Given the description of an element on the screen output the (x, y) to click on. 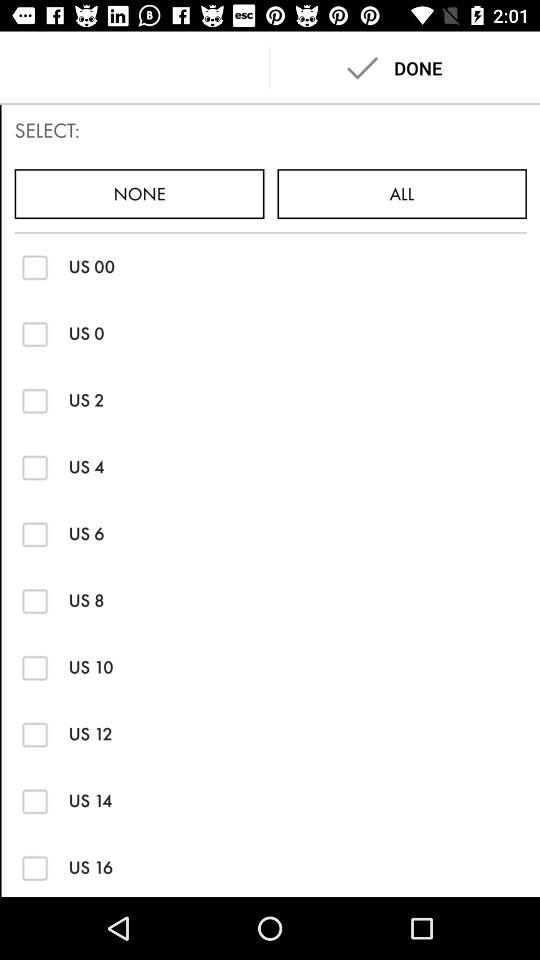
16 dollars (34, 867)
